Given the description of an element on the screen output the (x, y) to click on. 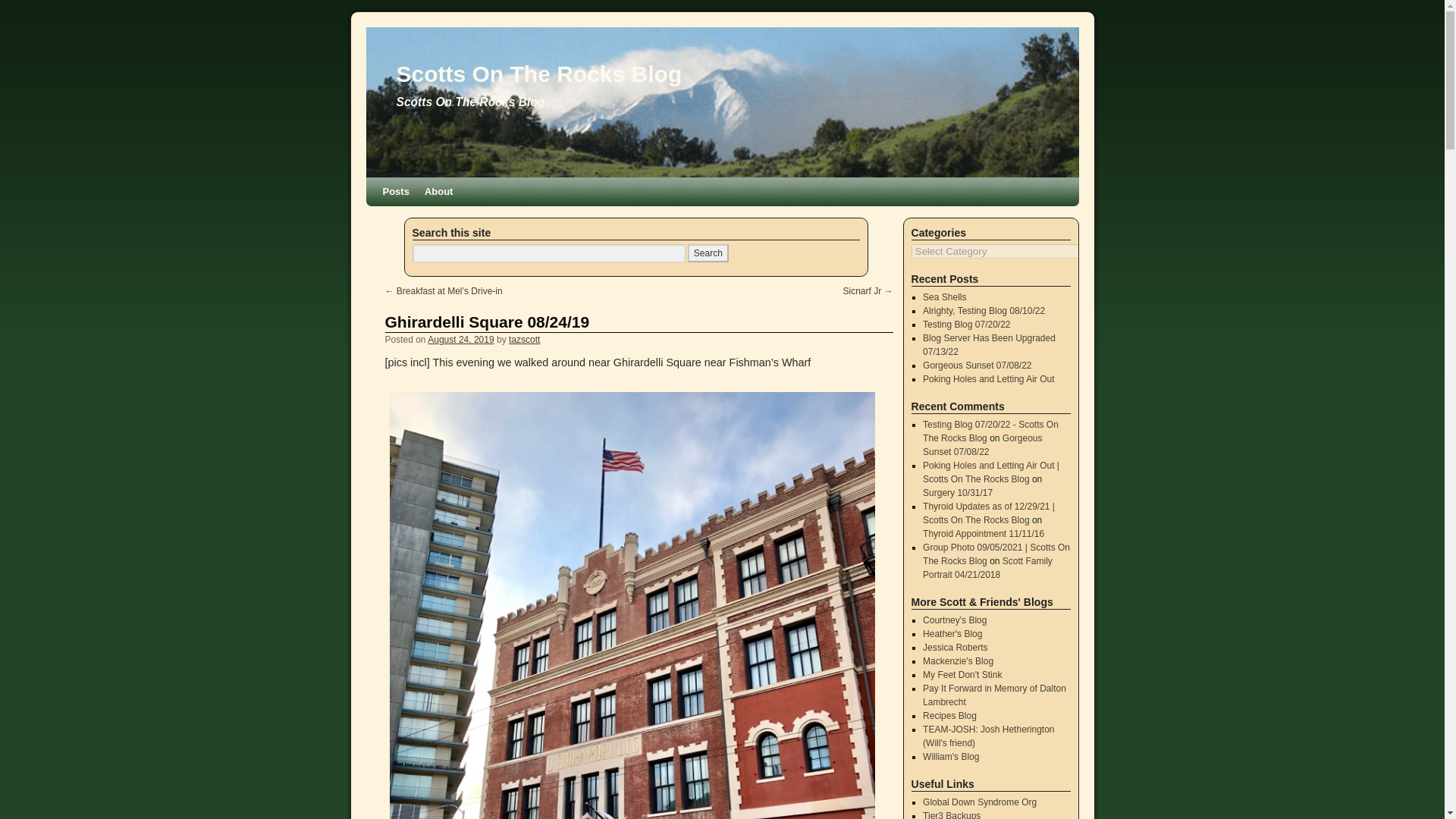
August 24, 2019 (460, 339)
tazscott (524, 339)
Search (708, 253)
9:45 pm (460, 339)
Search (708, 253)
Scotts On The Rocks Blog (538, 73)
Posts (395, 191)
Pay It Forward in Memory of Dalton Lambrecht (994, 695)
Scotts On The Rocks Blog (538, 73)
About (438, 191)
View all posts by tazscott (524, 339)
